Given the description of an element on the screen output the (x, y) to click on. 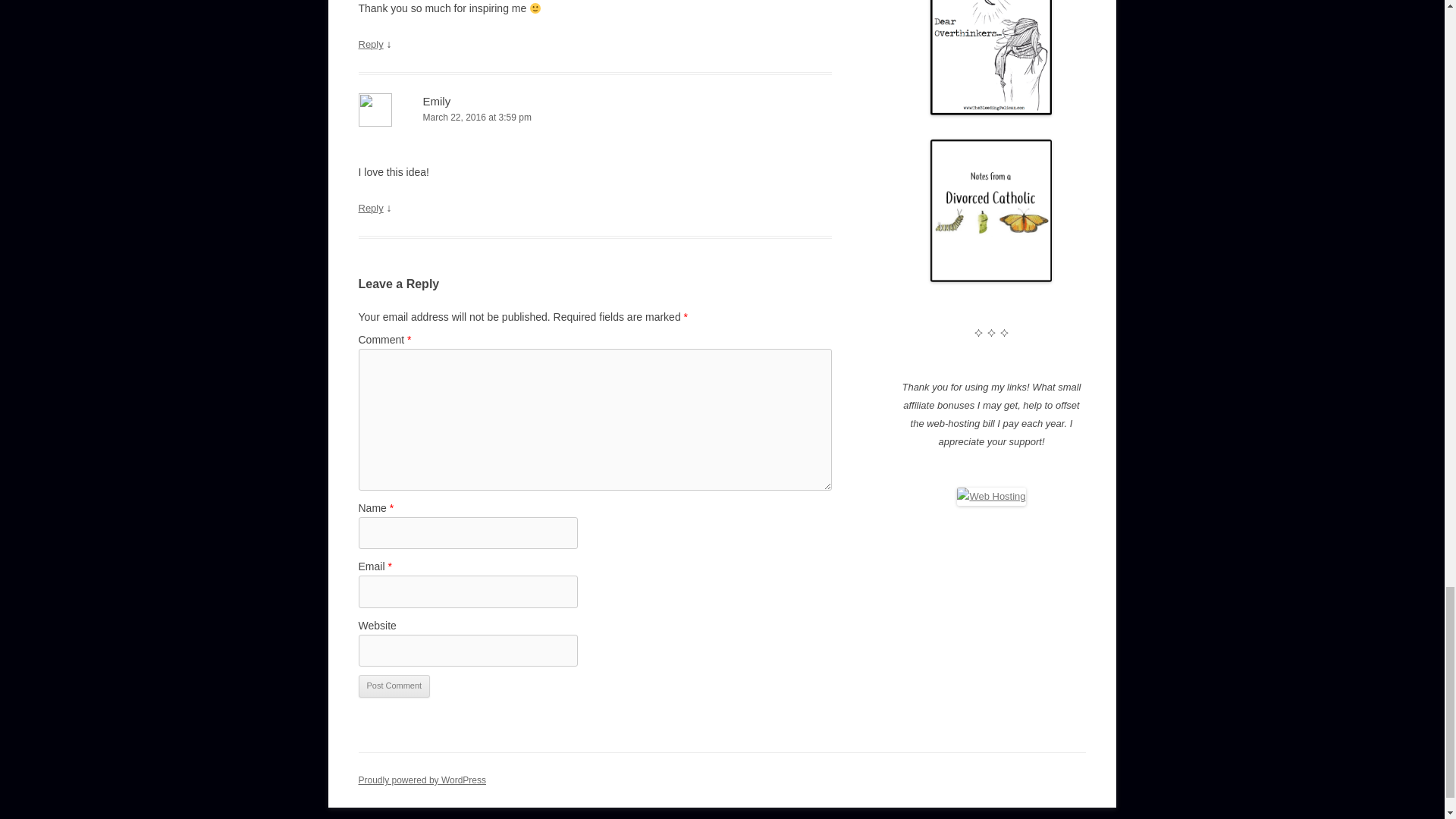
Reply (370, 207)
March 22, 2016 at 3:59 pm (594, 117)
Post Comment (393, 685)
Post Comment (393, 685)
Reply (370, 43)
